Given the description of an element on the screen output the (x, y) to click on. 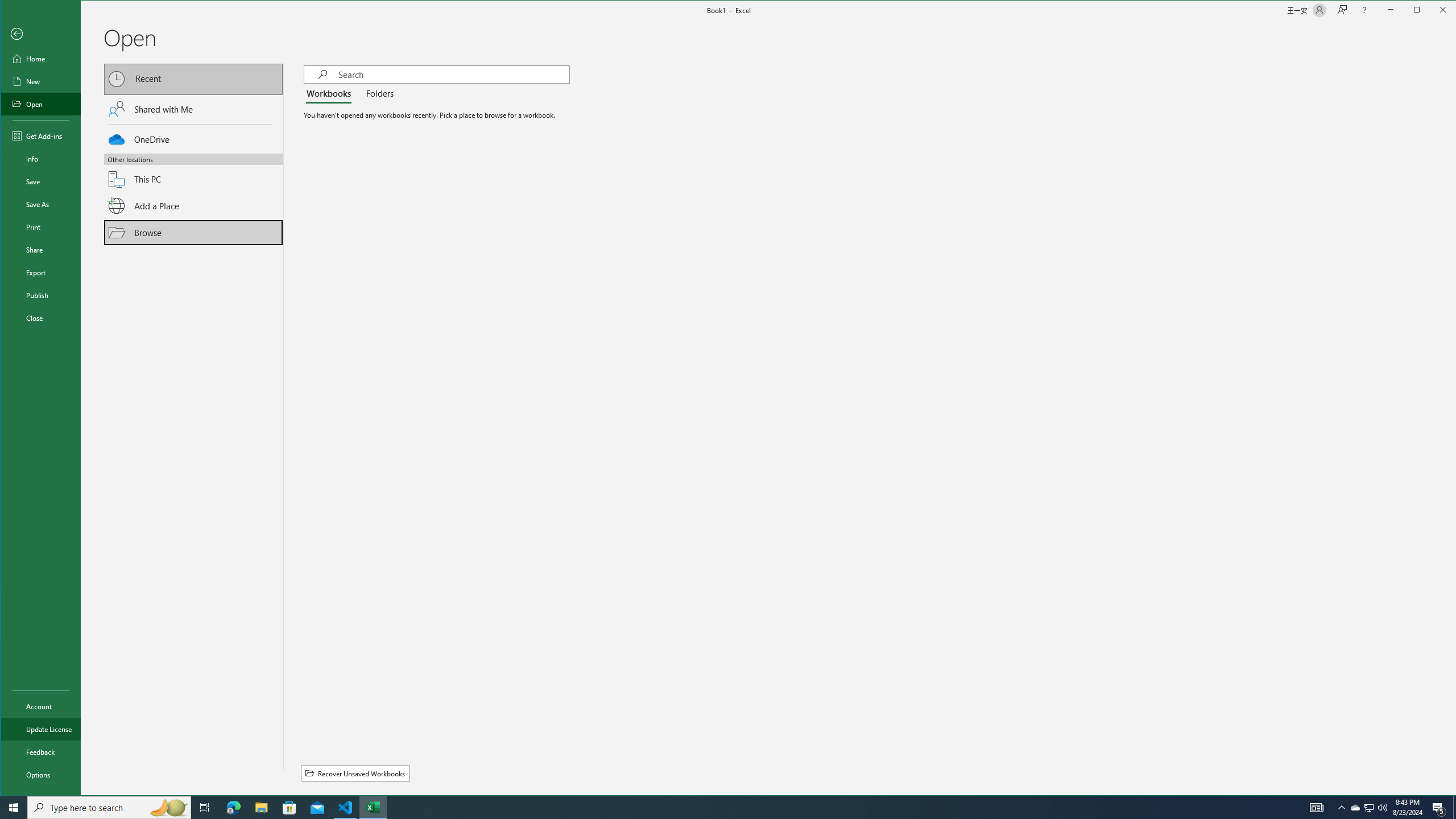
Search highlights icon opens search home window (167, 807)
This PC (193, 172)
Start (13, 807)
Info (40, 158)
Folders (377, 94)
Update License (40, 728)
Notification Chevron (1341, 807)
New (40, 80)
